Given the description of an element on the screen output the (x, y) to click on. 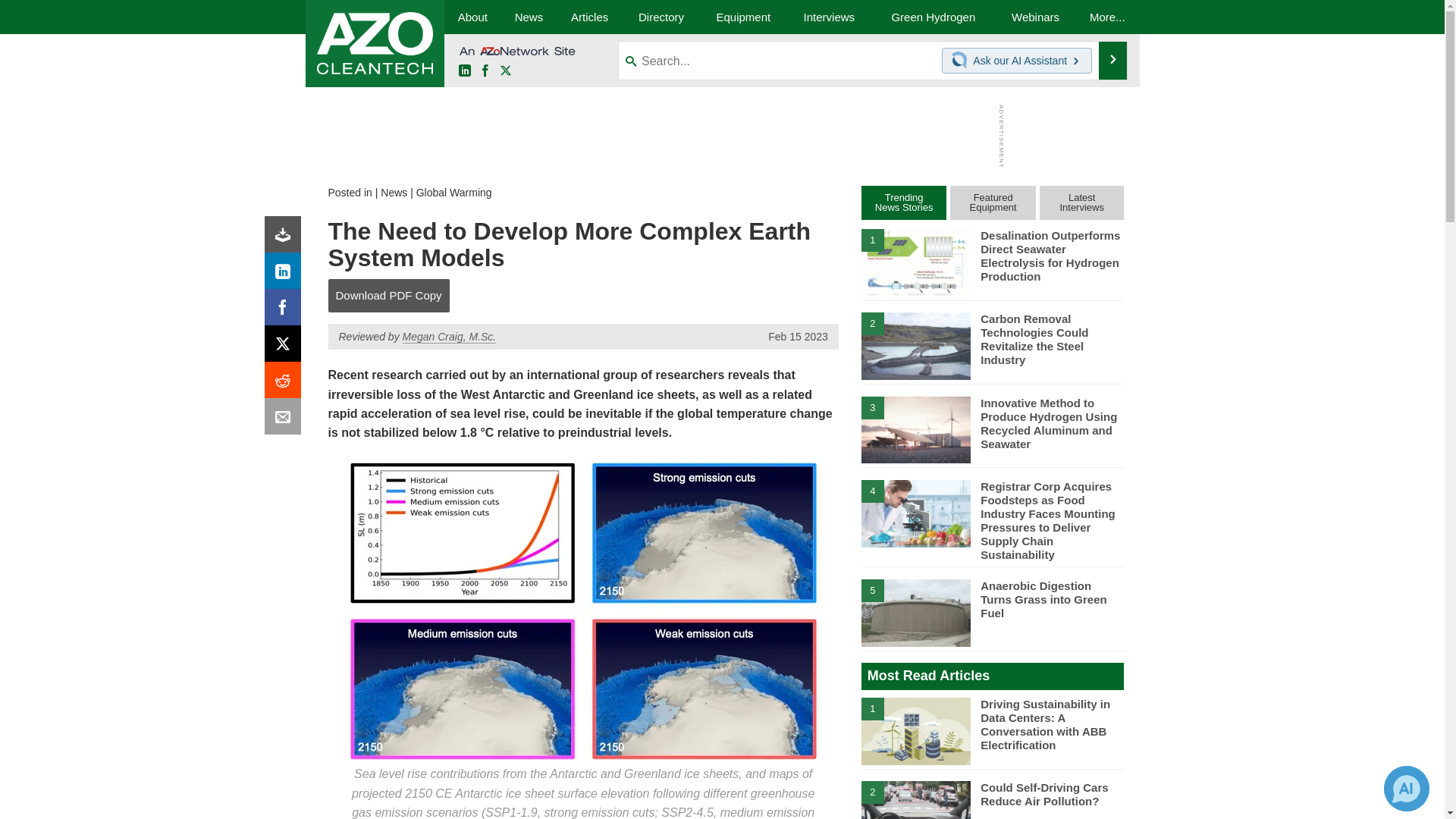
Global Warming (454, 192)
Directory (660, 17)
Facebook (285, 311)
Reddit (285, 384)
Chat with our AI Assistant Ask our AI Assistant (1017, 60)
Email (285, 420)
Webinars (1035, 17)
Equipment (742, 17)
X (505, 71)
News (393, 192)
X (285, 348)
Download PDF copy (285, 238)
About (472, 17)
More... (1106, 17)
